Given the description of an element on the screen output the (x, y) to click on. 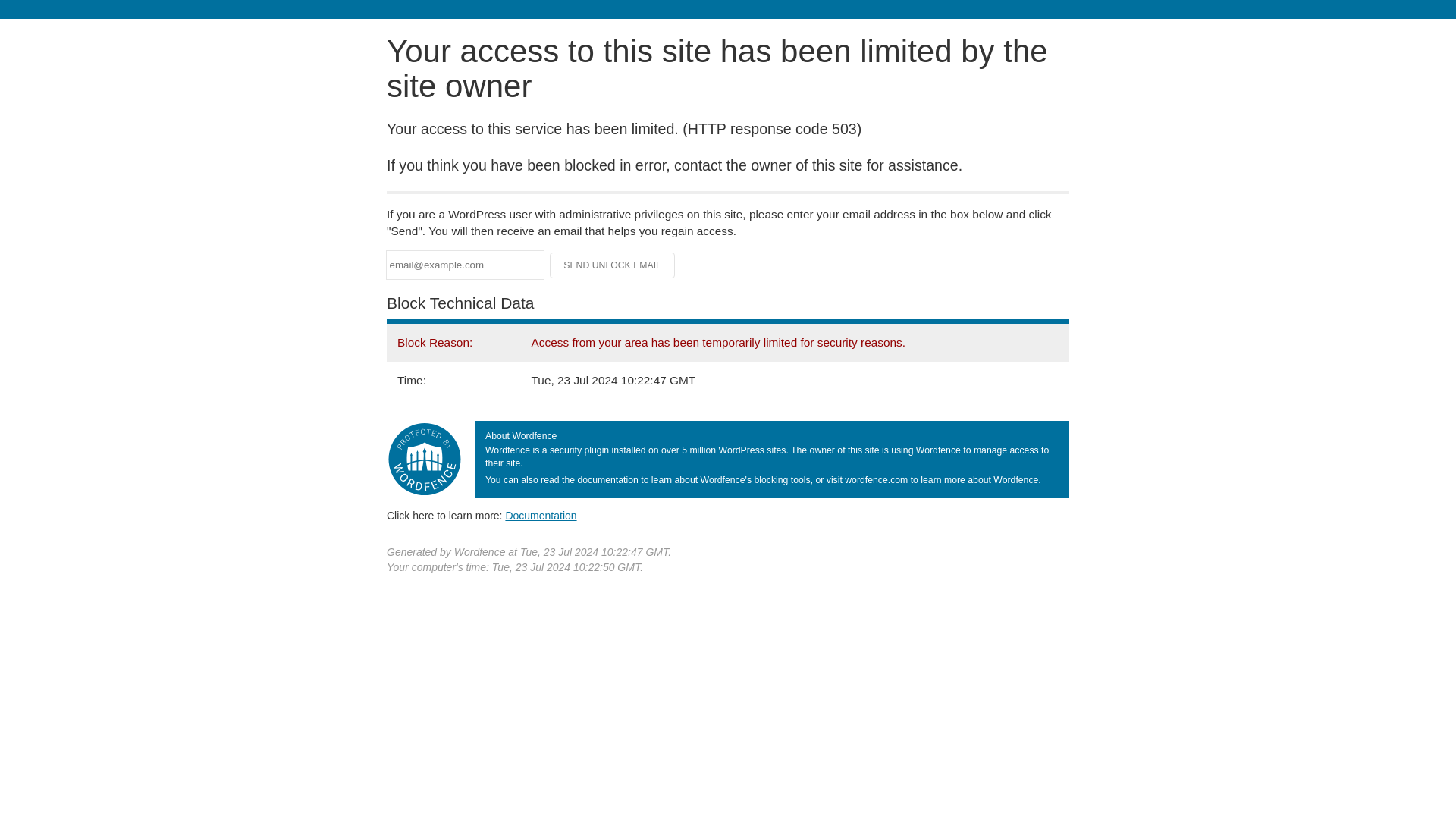
Documentation (540, 515)
Send Unlock Email (612, 265)
Send Unlock Email (612, 265)
